Given the description of an element on the screen output the (x, y) to click on. 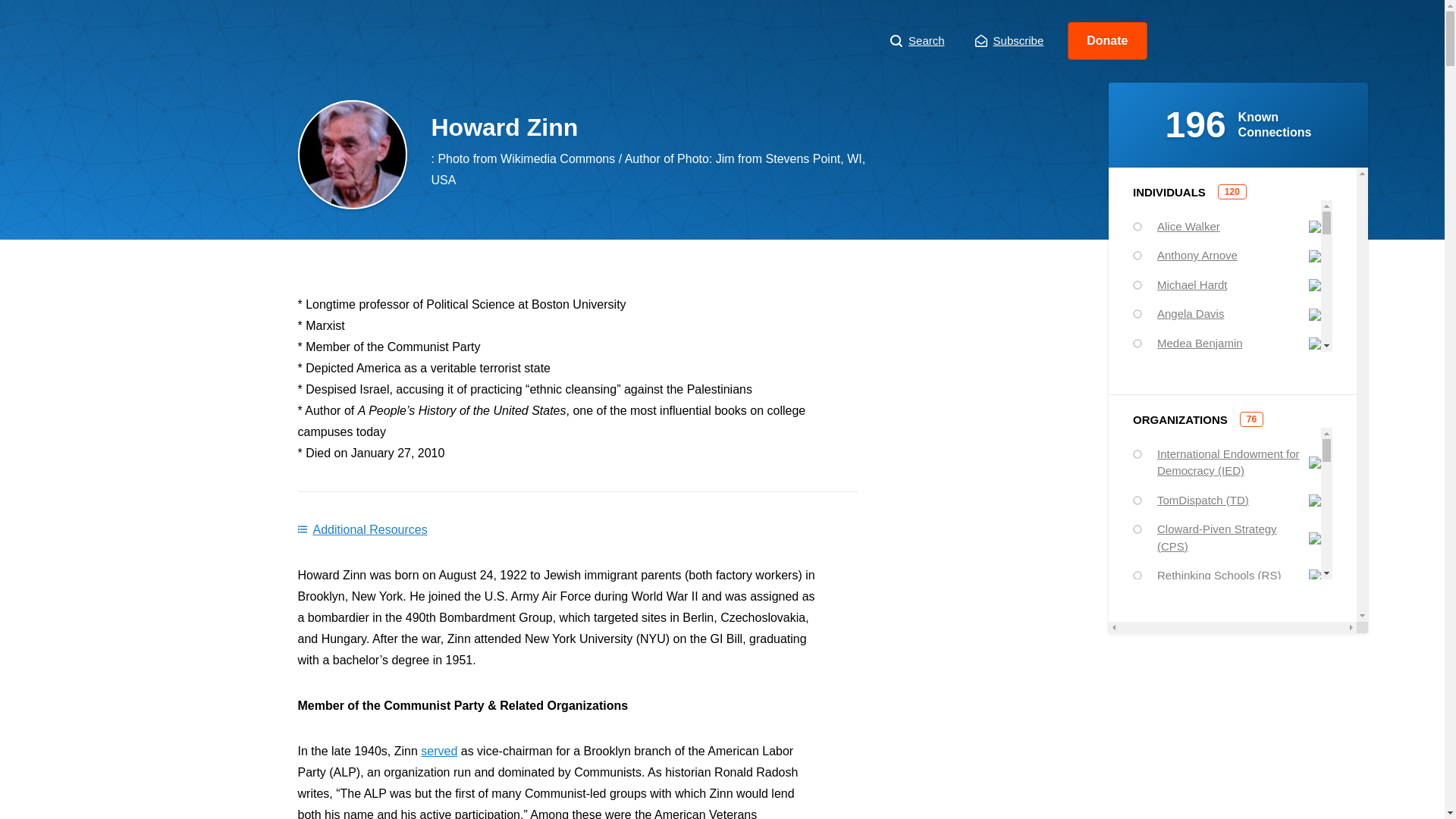
Search (916, 40)
Additional Resources (361, 529)
served (438, 750)
Subscribe (1009, 40)
Donate (1107, 40)
Howard Zinn (418, 40)
